Given the description of an element on the screen output the (x, y) to click on. 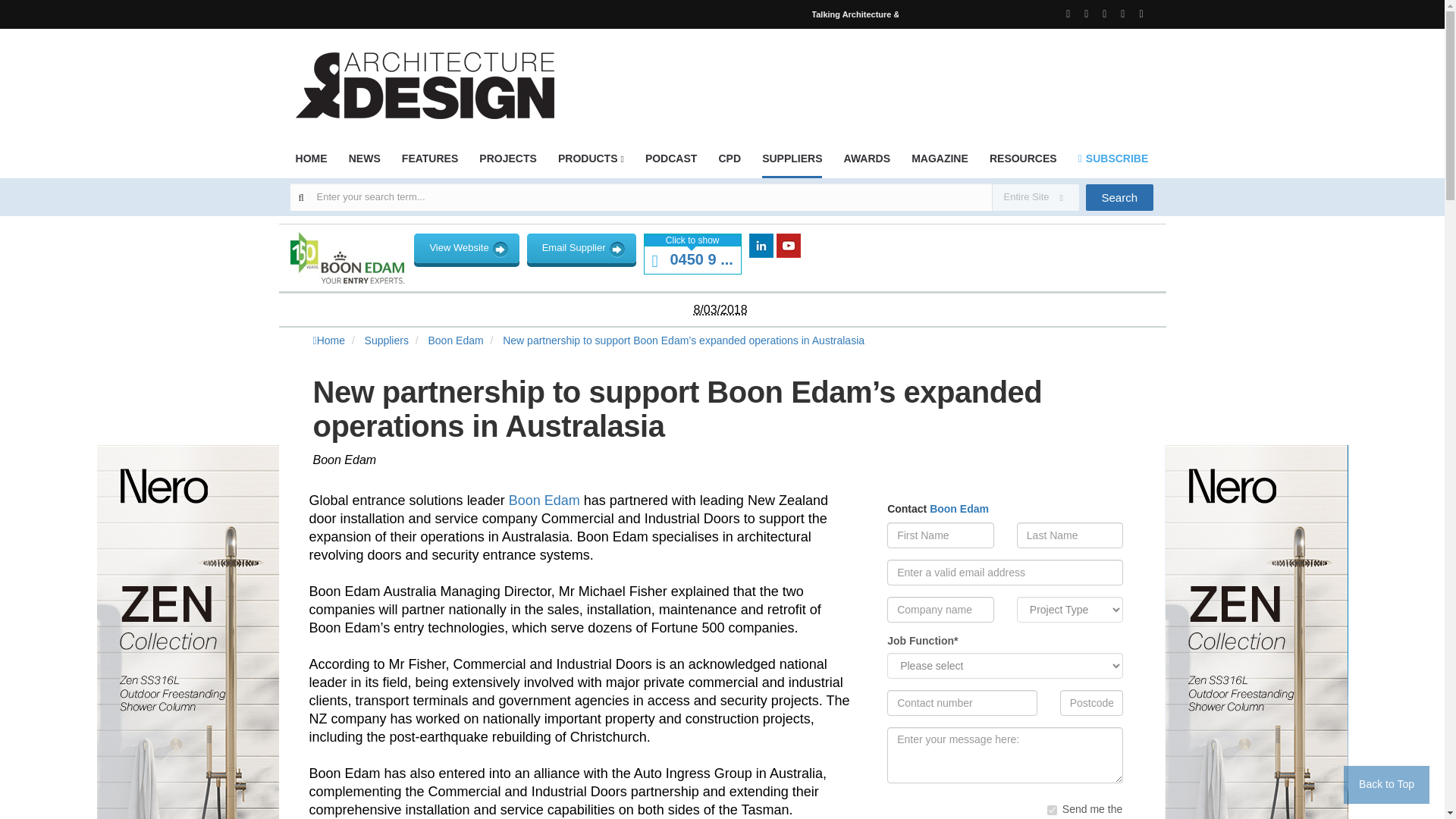
PROJECTS (507, 163)
HOME (311, 163)
on (1051, 809)
NEWS (364, 163)
PRODUCTS (590, 163)
3rd party ad content (876, 75)
FEATURES (429, 163)
2018-03-08T07:47:10Z (719, 309)
